Given the description of an element on the screen output the (x, y) to click on. 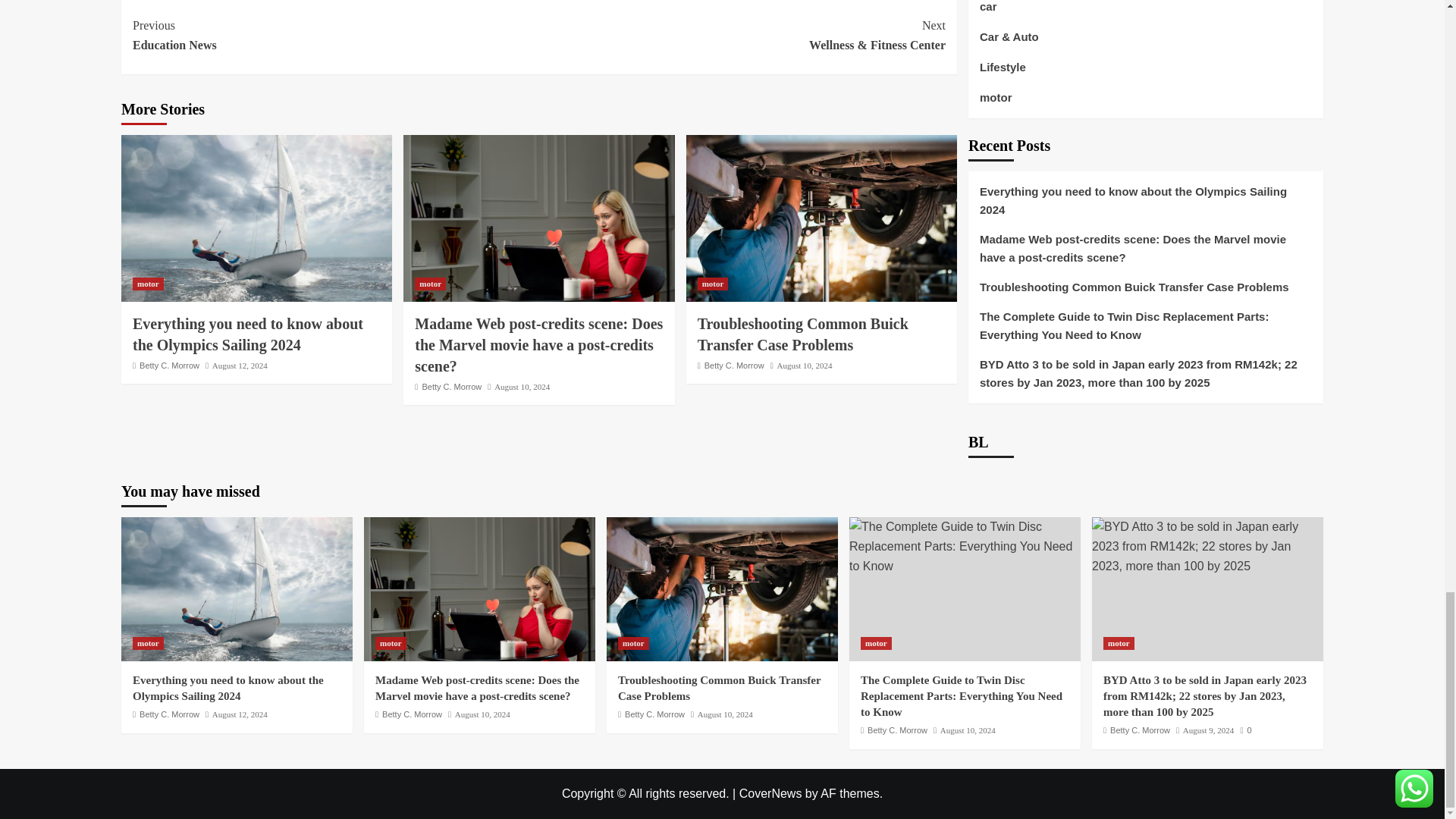
Troubleshooting Common Buick Transfer Case Problems (820, 218)
Everything you need to know about the Olympics Sailing 2024 (255, 218)
